Given the description of an element on the screen output the (x, y) to click on. 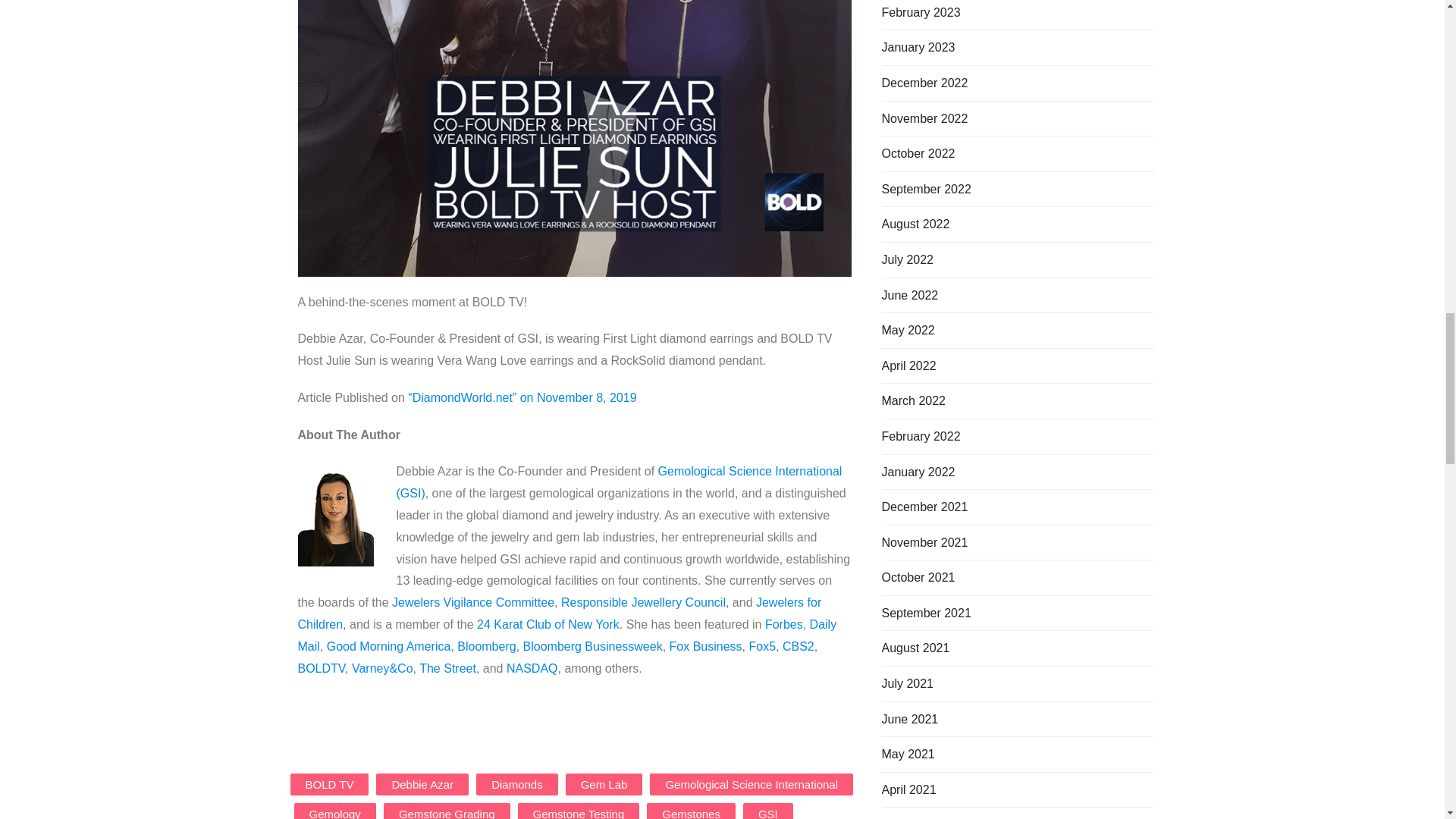
24 Karat Club of New York (548, 624)
Daily Mail (566, 635)
Jewelers for Children (559, 613)
Responsible Jewellery Council (642, 602)
Jewelers Vigilance Committee (472, 602)
Forbes (784, 624)
